Given the description of an element on the screen output the (x, y) to click on. 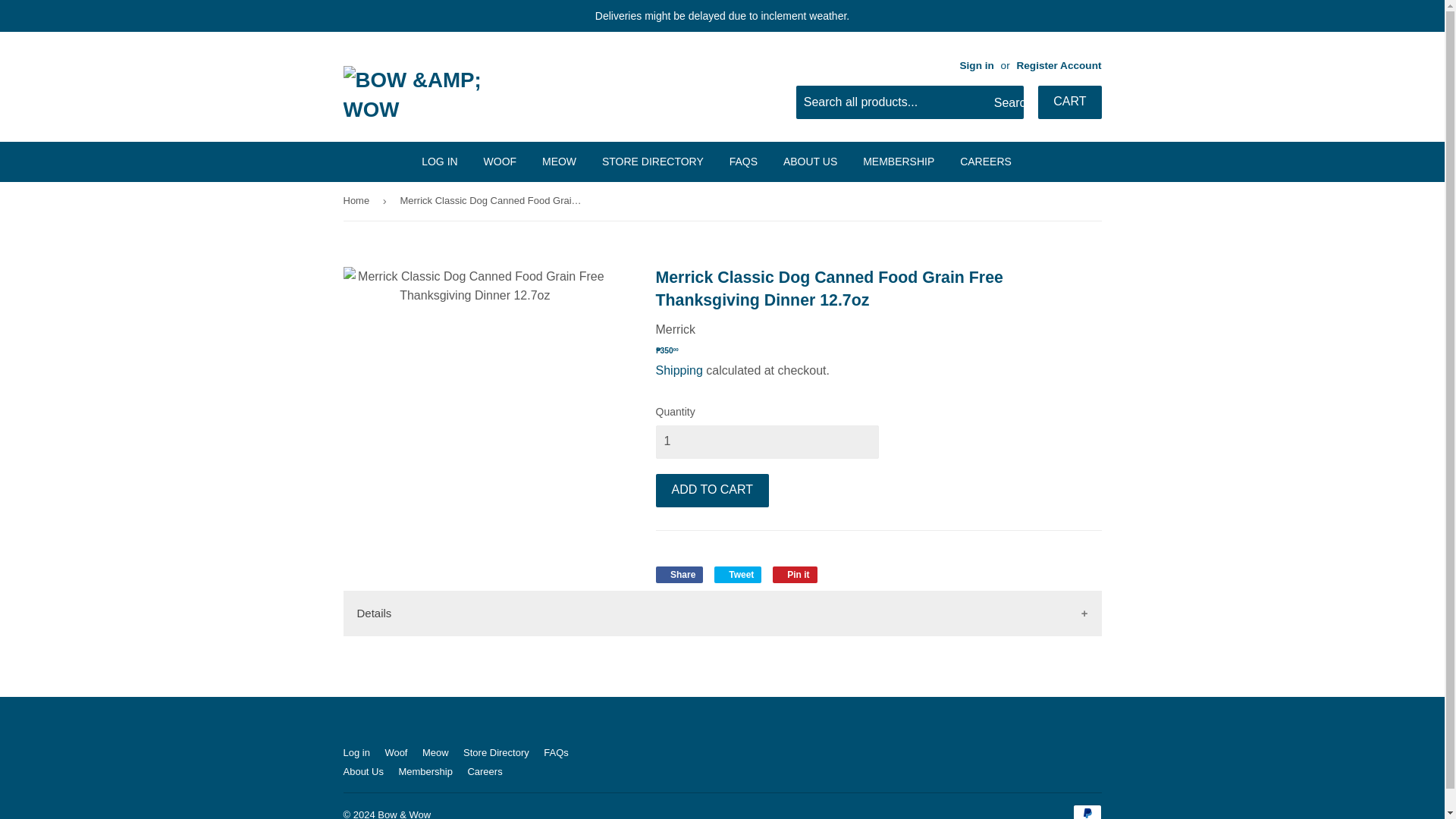
PayPal (1085, 811)
CART (1069, 101)
Register Account (1058, 65)
Tweet on Twitter (737, 574)
Pin on Pinterest (794, 574)
Search (1006, 102)
1 (766, 441)
Share on Facebook (679, 574)
Sign in (975, 65)
